Given the description of an element on the screen output the (x, y) to click on. 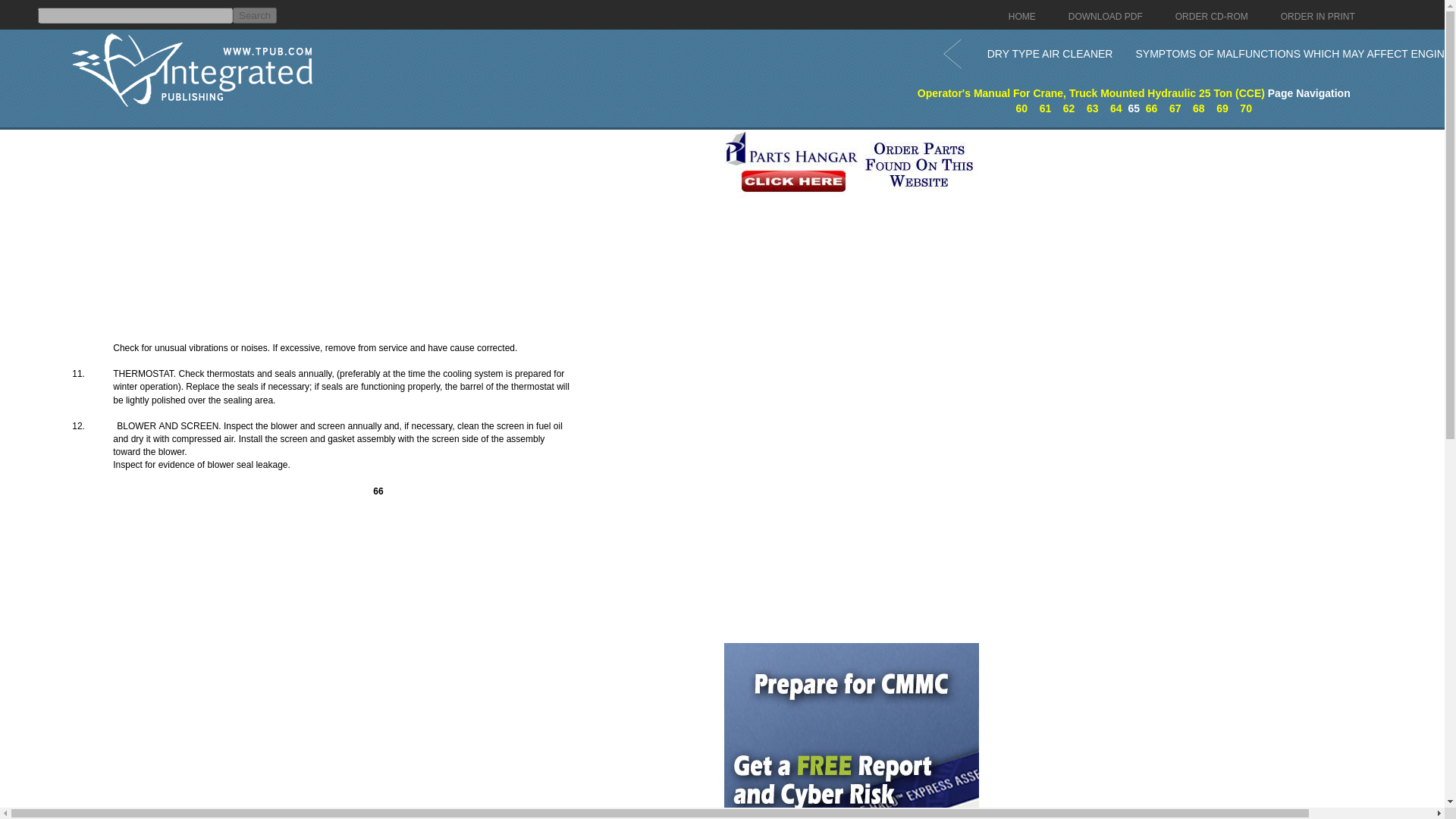
67 (1174, 108)
DOWNLOAD PDF (1105, 16)
Search (254, 15)
61 (1045, 108)
AIRCRAFT ON LOADING PROCEDURE (1221, 108)
ORDER IN PRINT (1317, 16)
66 (1151, 108)
SYMPTOMS OF MALFUNCTIONS WHICH MAY AFFECT ENGINE EMISSIONS (1295, 53)
70 (1246, 108)
62 (1068, 108)
DRY TYPE AIR CLEANER (1050, 53)
SECTION VI. ADDENDUM (1246, 108)
FRONT AXLE AND STEERING (1021, 108)
